Given the description of an element on the screen output the (x, y) to click on. 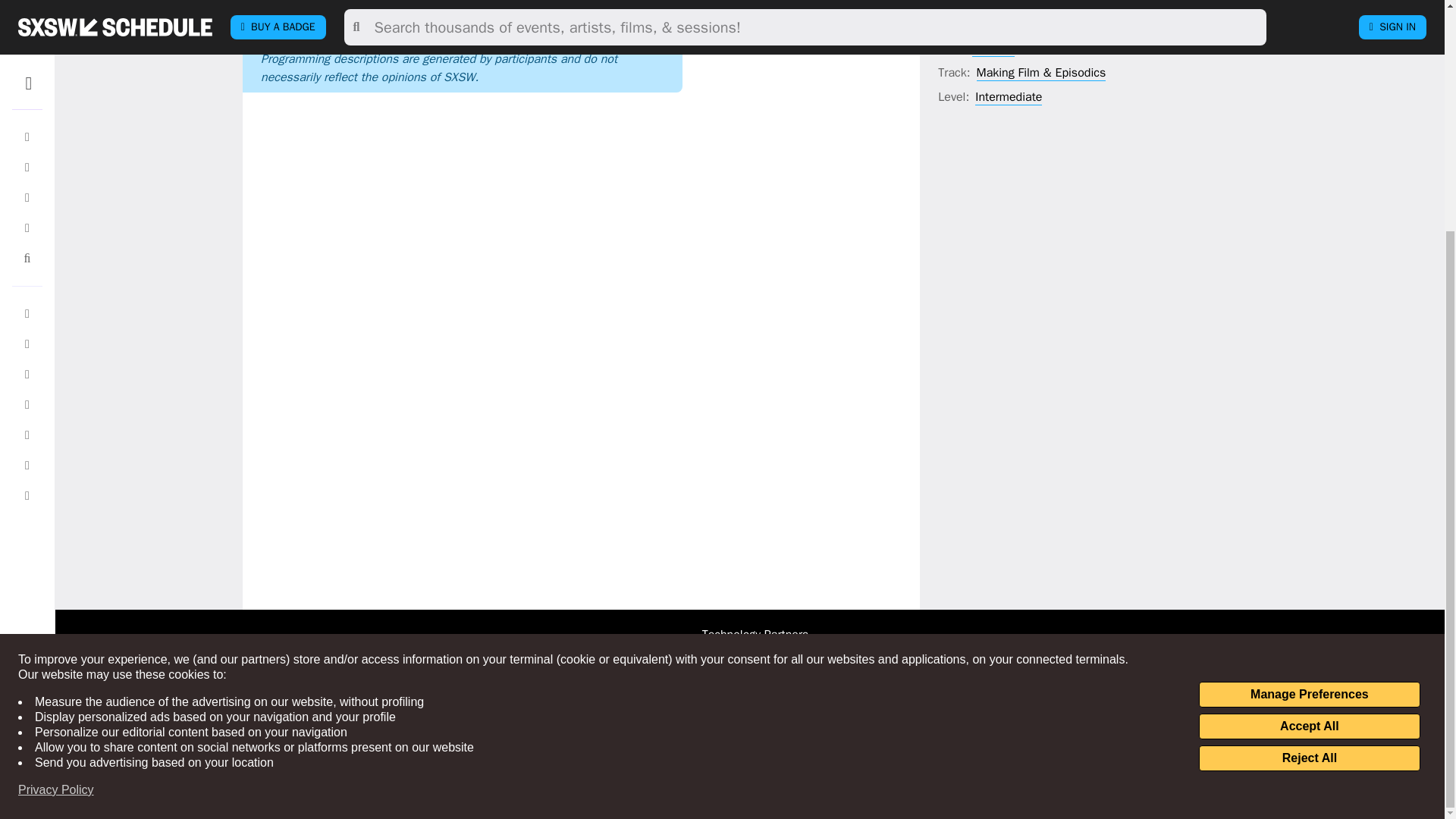
Sign In to add to your favorites. (818, 6)
Accept All (1309, 413)
Manage Preferences (1309, 381)
Privacy Policy (55, 477)
Reject All (1309, 445)
